Given the description of an element on the screen output the (x, y) to click on. 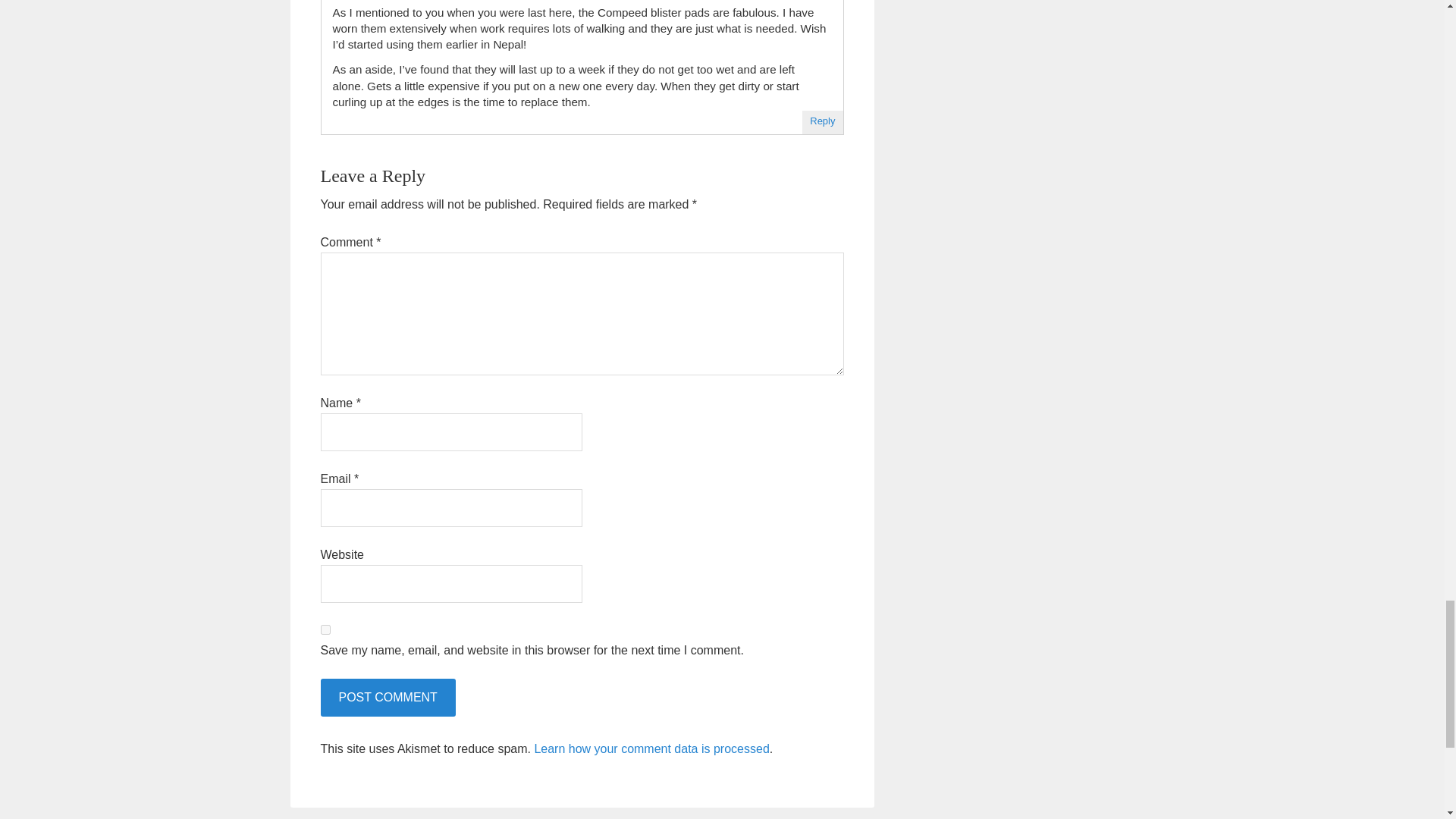
Post Comment (387, 697)
Learn how your comment data is processed (651, 748)
Post Comment (387, 697)
Reply (821, 120)
yes (325, 629)
